Given the description of an element on the screen output the (x, y) to click on. 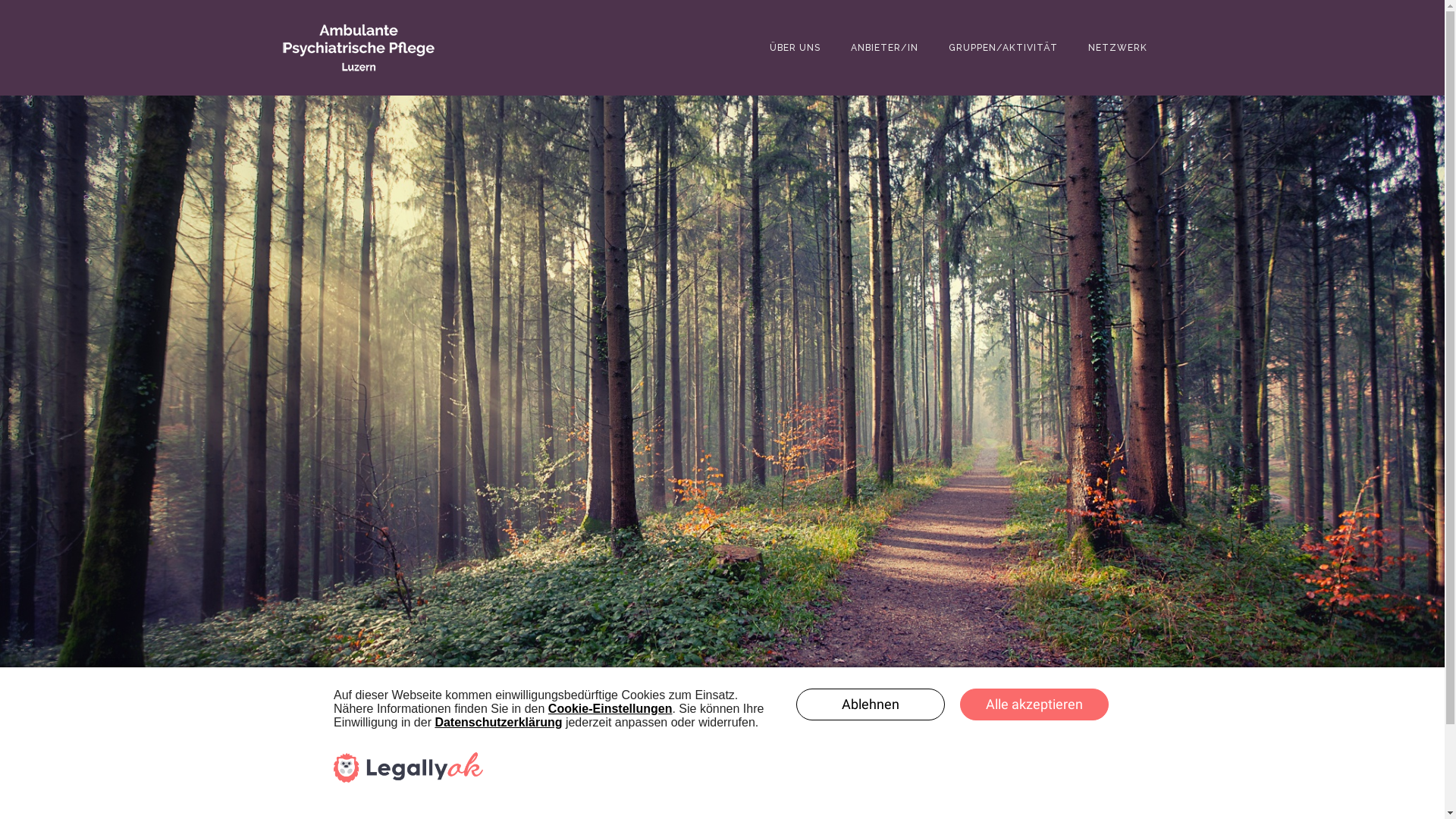
ANBIETER/IN Element type: text (884, 47)
Datenschutz-Einstellungen Element type: text (611, 790)
NETZWERK Element type: text (1116, 47)
